Given the description of an element on the screen output the (x, y) to click on. 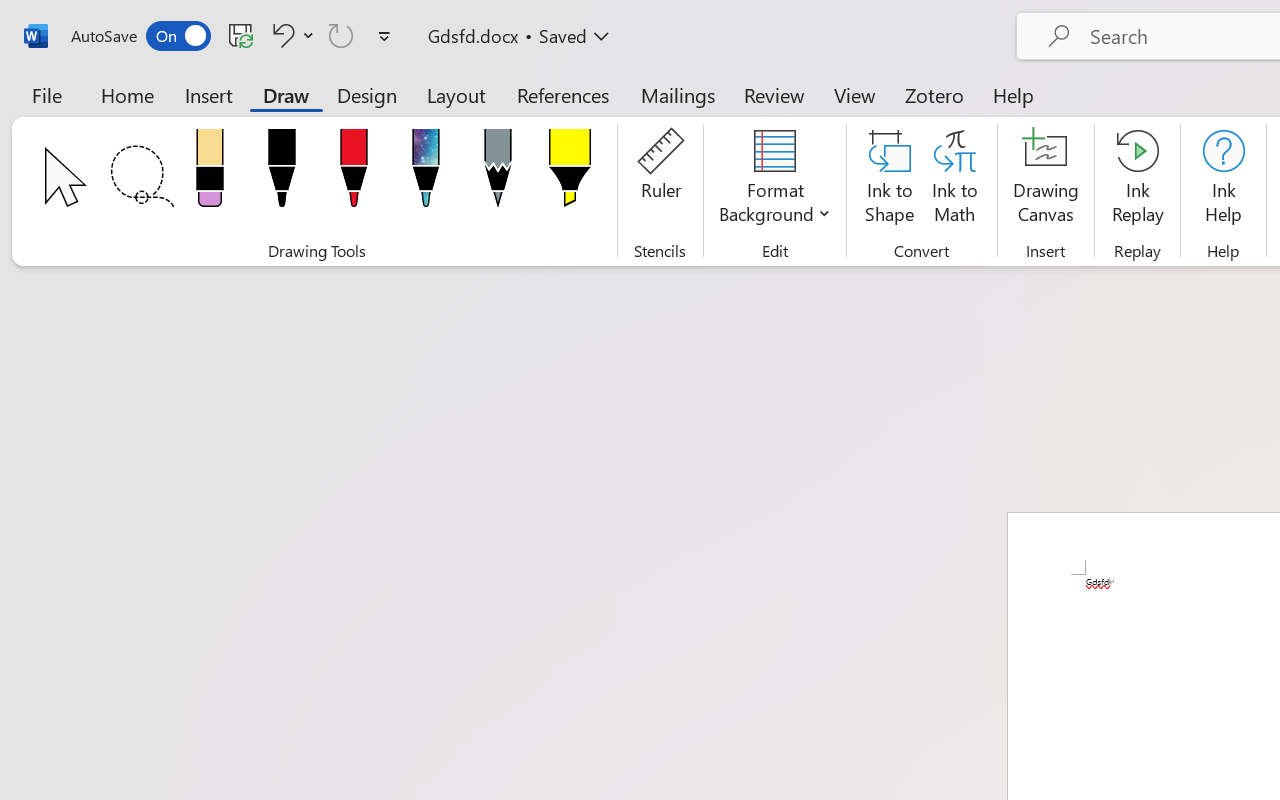
Reset to Cameo (474, 114)
Export to Video (585, 114)
From Current Slide... (224, 114)
Fit (1217, 723)
